Given the description of an element on the screen output the (x, y) to click on. 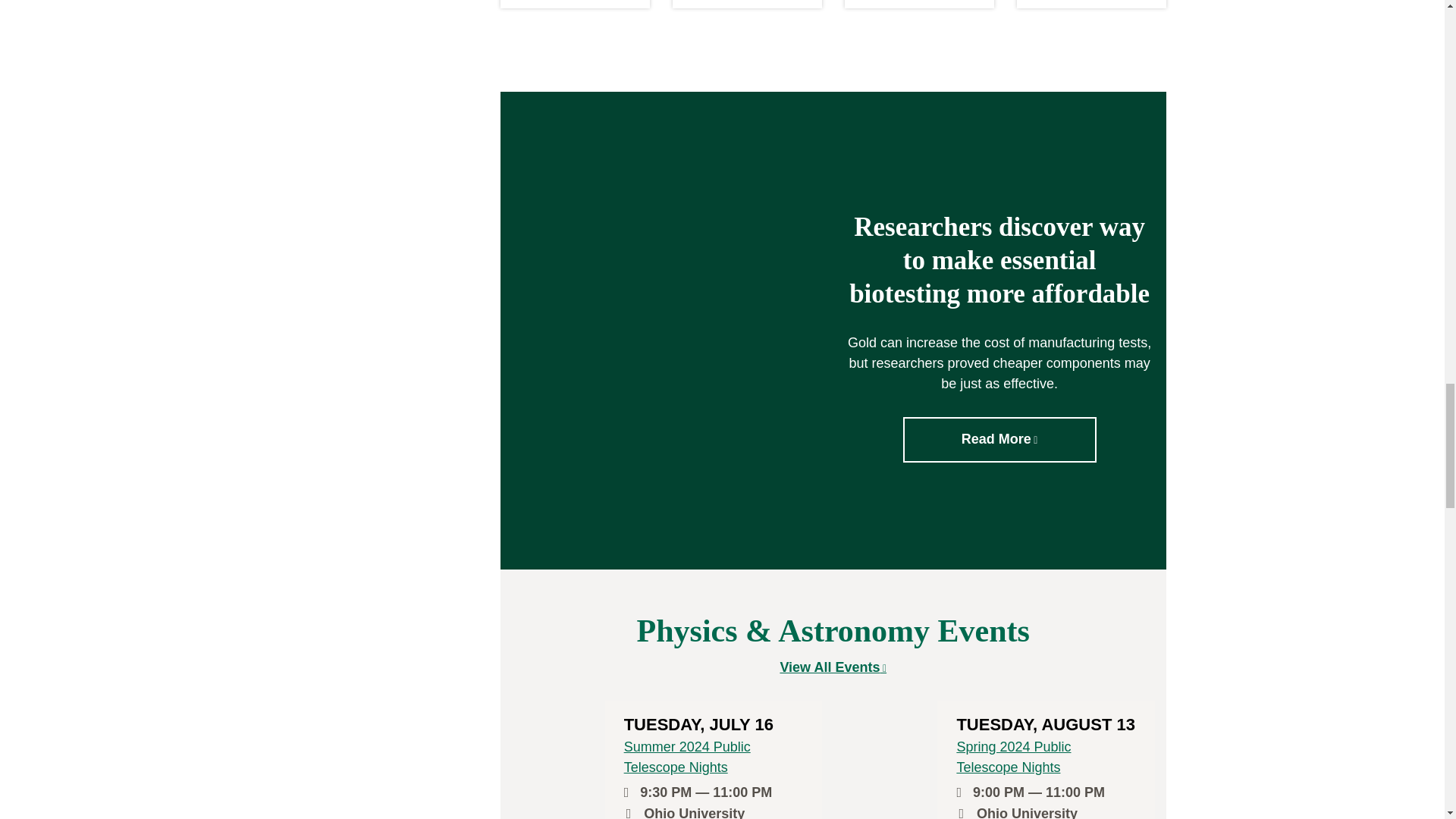
event location (632, 812)
event location (964, 812)
event time (962, 792)
event time (630, 792)
